Given the description of an element on the screen output the (x, y) to click on. 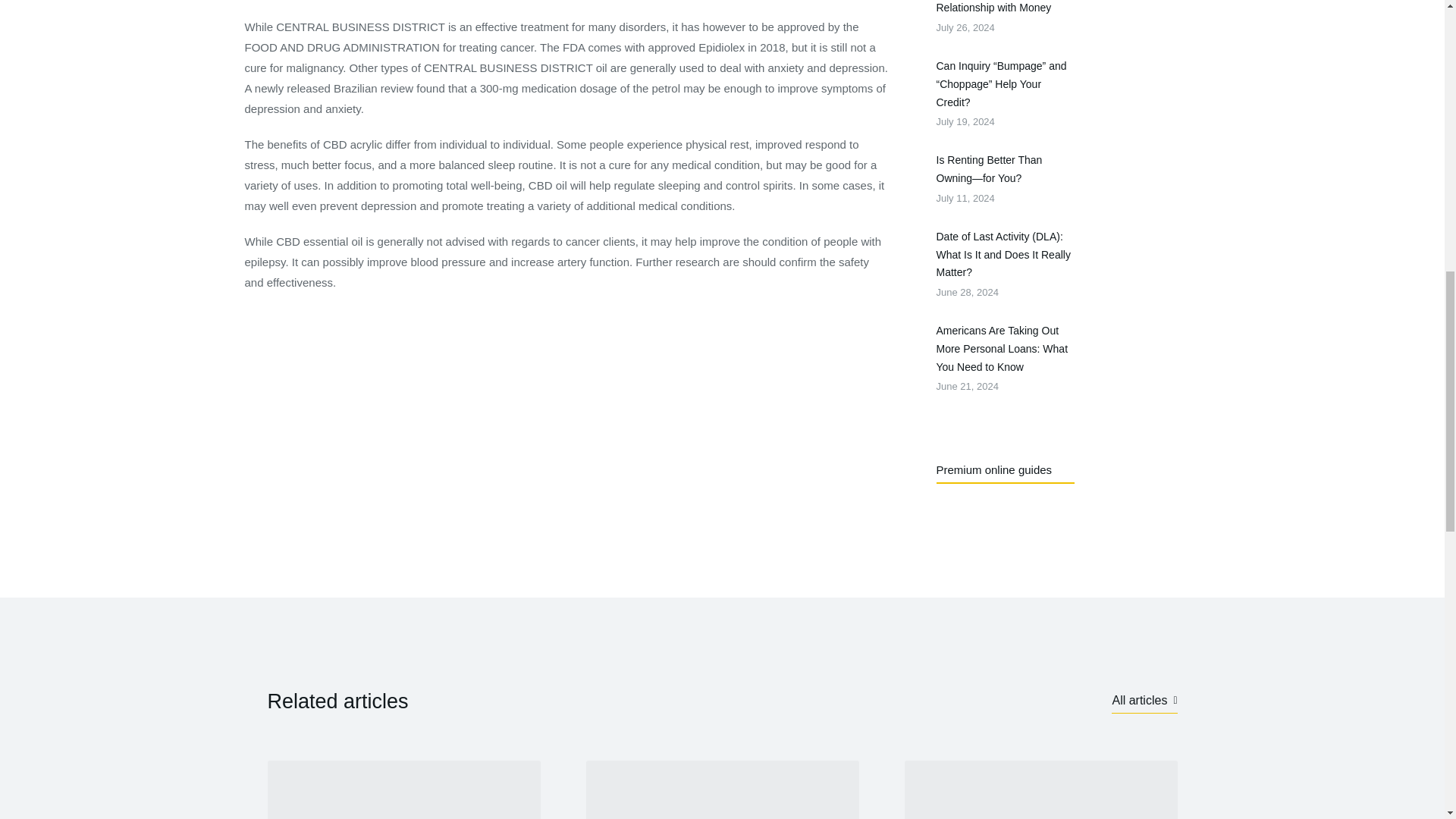
All articles (1144, 700)
Fixing Your Emotional Relationship with Money (1006, 8)
